Given the description of an element on the screen output the (x, y) to click on. 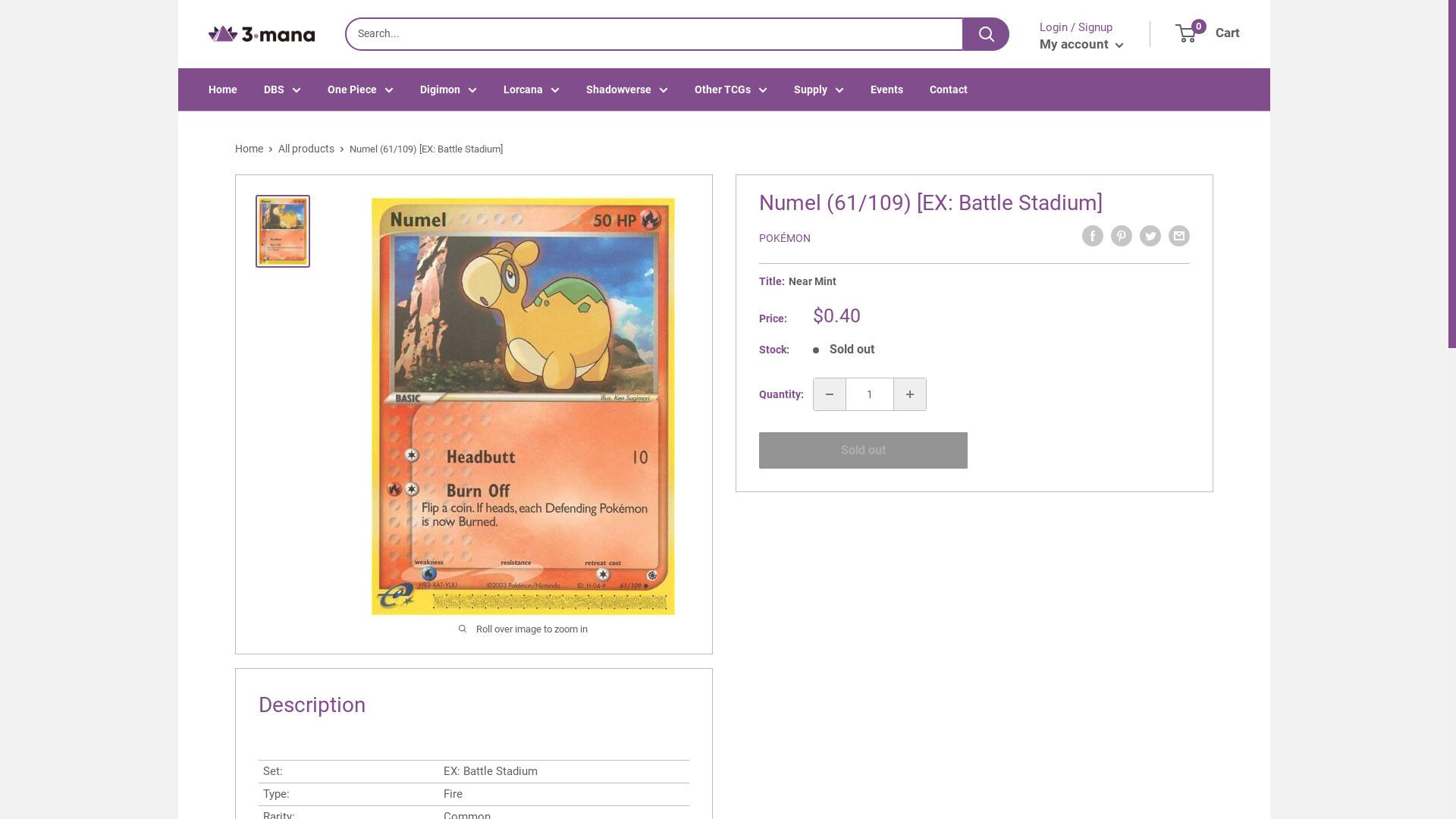
CRC Element type: text (245, 178)
KHR Element type: text (245, 675)
EGP Element type: text (245, 302)
Contact Element type: text (948, 89)
KMF Element type: text (245, 692)
IDR Element type: text (245, 533)
KZT Element type: text (245, 746)
Increase quantity by 1 Element type: hover (909, 394)
INR Element type: text (245, 568)
Home Element type: text (222, 89)
BND Element type: text (245, 18)
KES Element type: text (245, 639)
Lorcana Element type: text (531, 89)
Shadowverse Element type: text (627, 89)
DJF Element type: text (245, 231)
ISK Element type: text (245, 586)
BSD Element type: text (245, 54)
Decrease quantity by 1 Element type: hover (829, 394)
BWP Element type: text (245, 71)
Supply Element type: text (818, 89)
GTQ Element type: text (245, 445)
DKK Element type: text (245, 249)
LBP Element type: text (245, 781)
GNF Element type: text (245, 426)
All products Element type: text (306, 148)
FKP Element type: text (245, 373)
Events Element type: text (886, 89)
One Piece Element type: text (360, 89)
Home Element type: text (249, 148)
My account Element type: text (1081, 43)
GBP Element type: text (245, 391)
HNL Element type: text (245, 498)
GYD Element type: text (245, 462)
0
Cart Element type: text (1207, 33)
BOB Element type: text (245, 36)
KGS Element type: text (245, 657)
JPY Element type: text (245, 622)
DZD Element type: text (245, 284)
LKR Element type: text (245, 799)
FJD Element type: text (245, 356)
DOP Element type: text (245, 267)
EUR Element type: text (245, 338)
ETB Element type: text (245, 320)
Other TCGs Element type: text (730, 89)
CHF Element type: text (245, 143)
KRW Element type: text (245, 711)
CNY Element type: text (245, 160)
CDF Element type: text (245, 124)
HKD Element type: text (245, 479)
DBS Element type: text (282, 89)
HUF Element type: text (245, 515)
BZD Element type: text (245, 90)
GMD Element type: text (245, 409)
CAD Element type: text (245, 107)
CVE Element type: text (245, 196)
Sold out Element type: text (863, 450)
ILS Element type: text (245, 551)
Digimon Element type: text (448, 89)
JMD Element type: text (245, 604)
KYD Element type: text (245, 728)
CZK Element type: text (245, 213)
LAK Element type: text (245, 764)
